Given the description of an element on the screen output the (x, y) to click on. 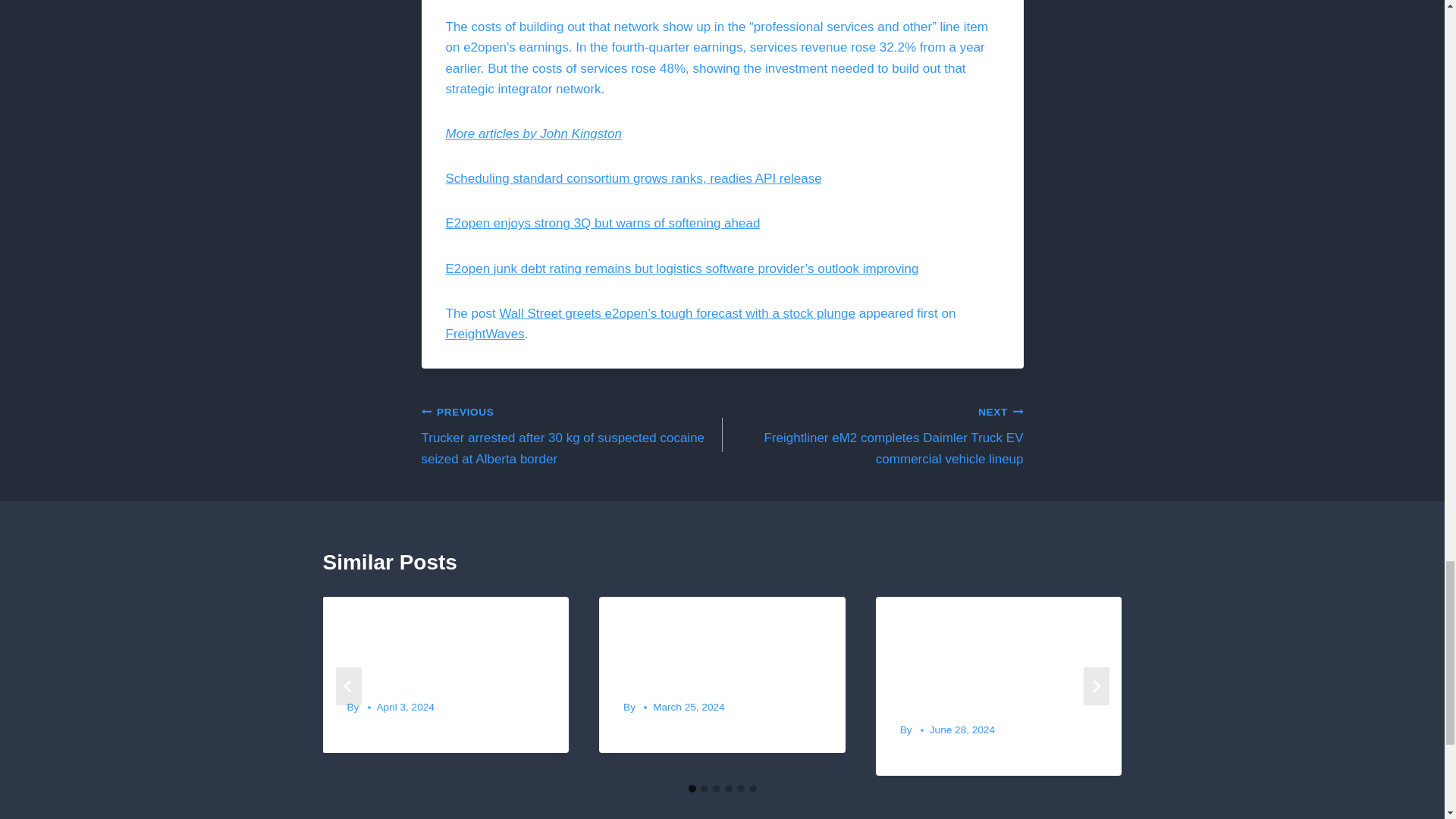
E2open enjoys strong 3Q but warns of softening ahead (602, 223)
More articles by John Kingston (533, 133)
FreightWaves (484, 333)
